Given the description of an element on the screen output the (x, y) to click on. 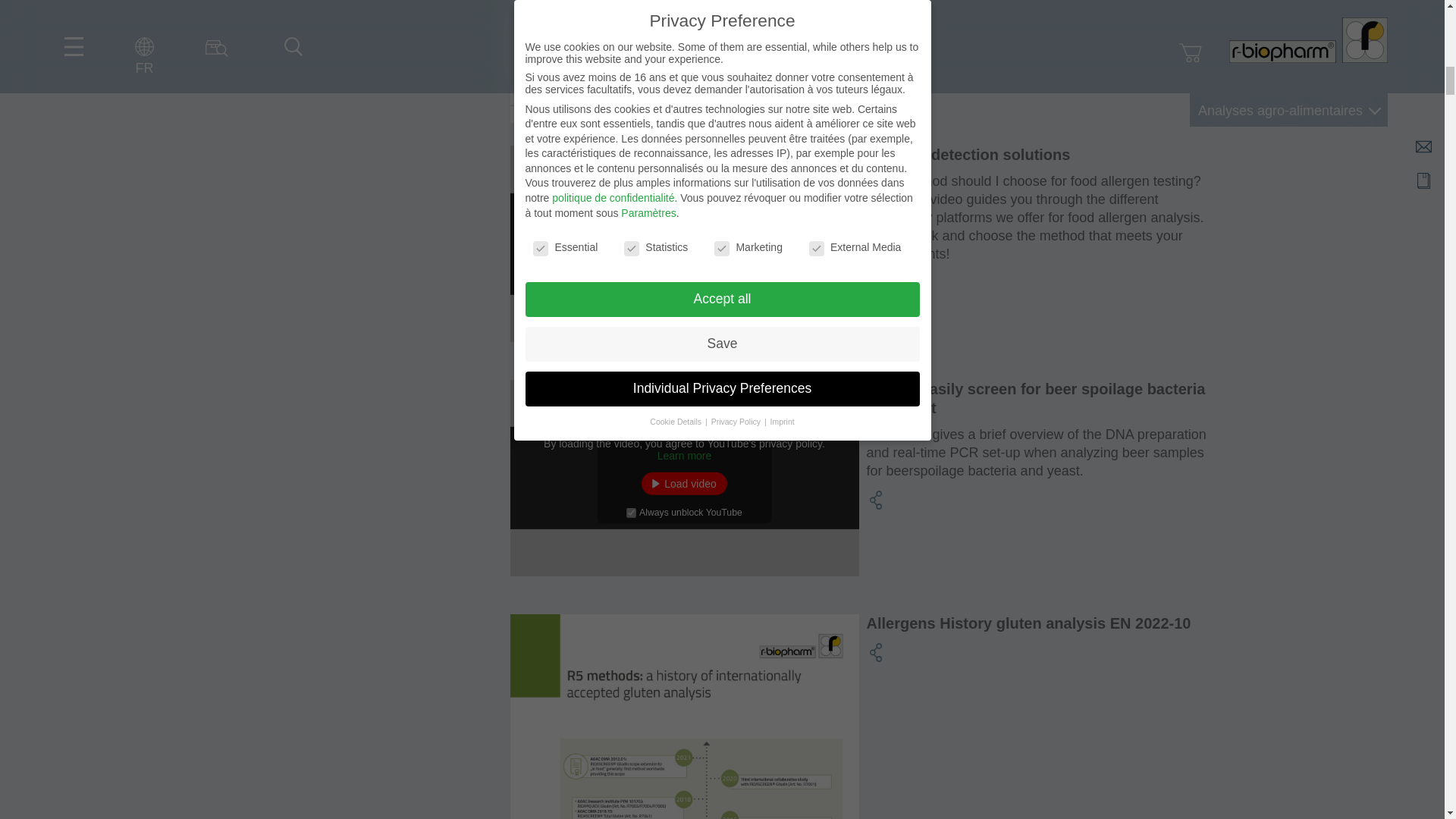
1 (631, 278)
1 (631, 512)
